Given the description of an element on the screen output the (x, y) to click on. 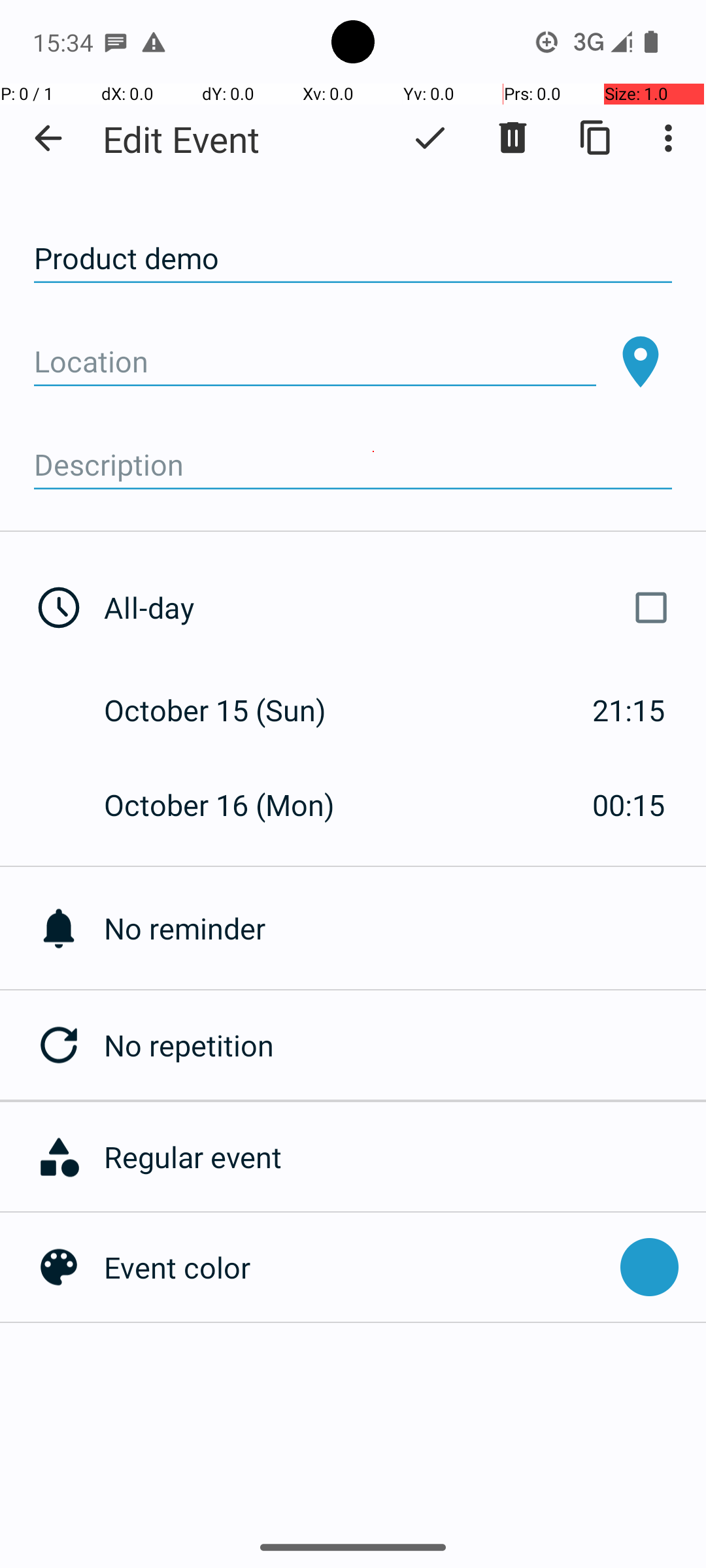
Product demo Element type: android.widget.EditText (352, 258)
21:15 Element type: android.widget.TextView (628, 709)
October 16 (Mon) Element type: android.widget.TextView (232, 804)
00:15 Element type: android.widget.TextView (628, 804)
